Given the description of an element on the screen output the (x, y) to click on. 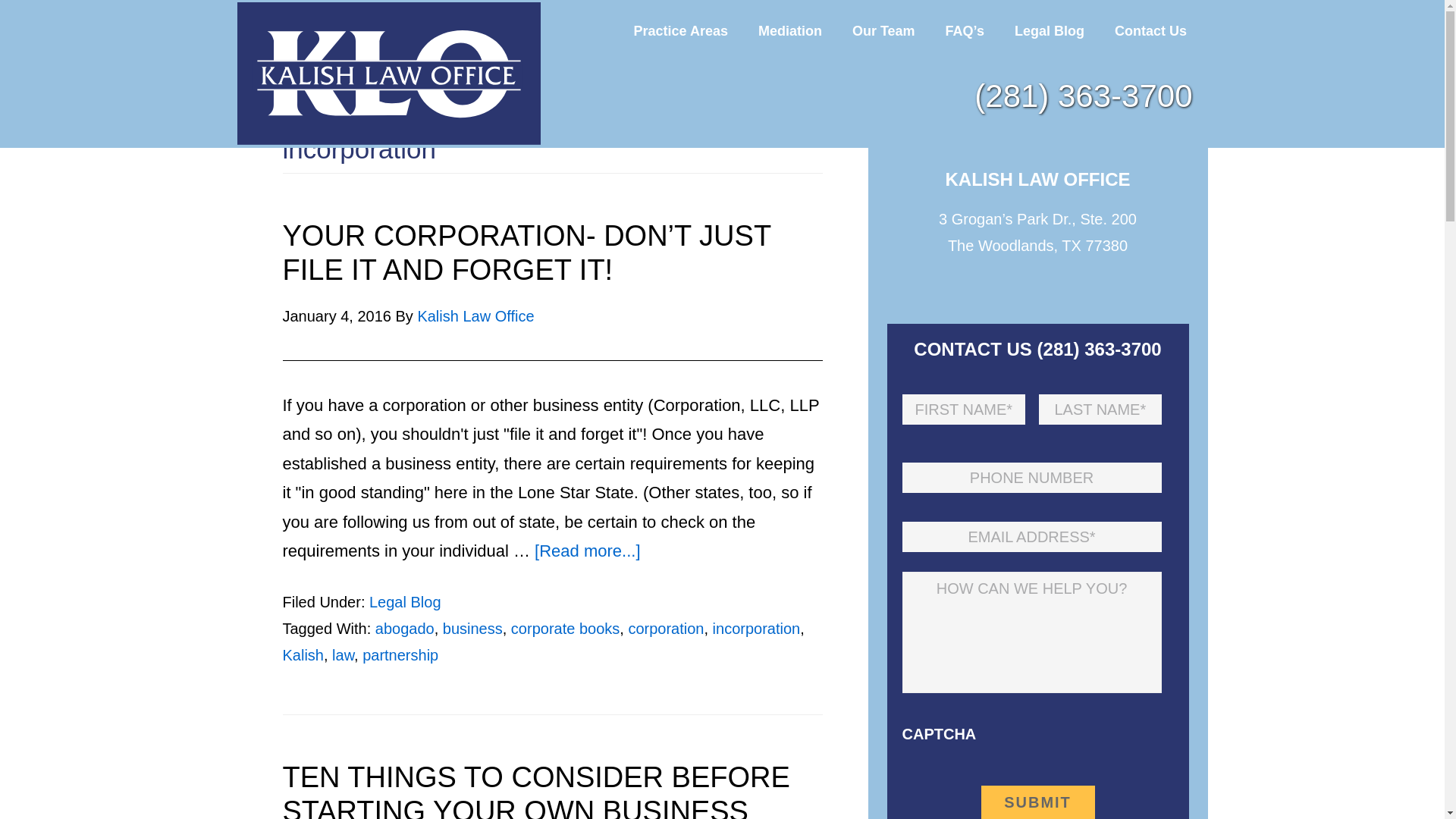
Practice Areas (680, 30)
Our Team (883, 30)
KALISH LAW TEXAS (387, 73)
Mediation (789, 30)
Submit (1037, 802)
Legal Blog (1048, 30)
